Given the description of an element on the screen output the (x, y) to click on. 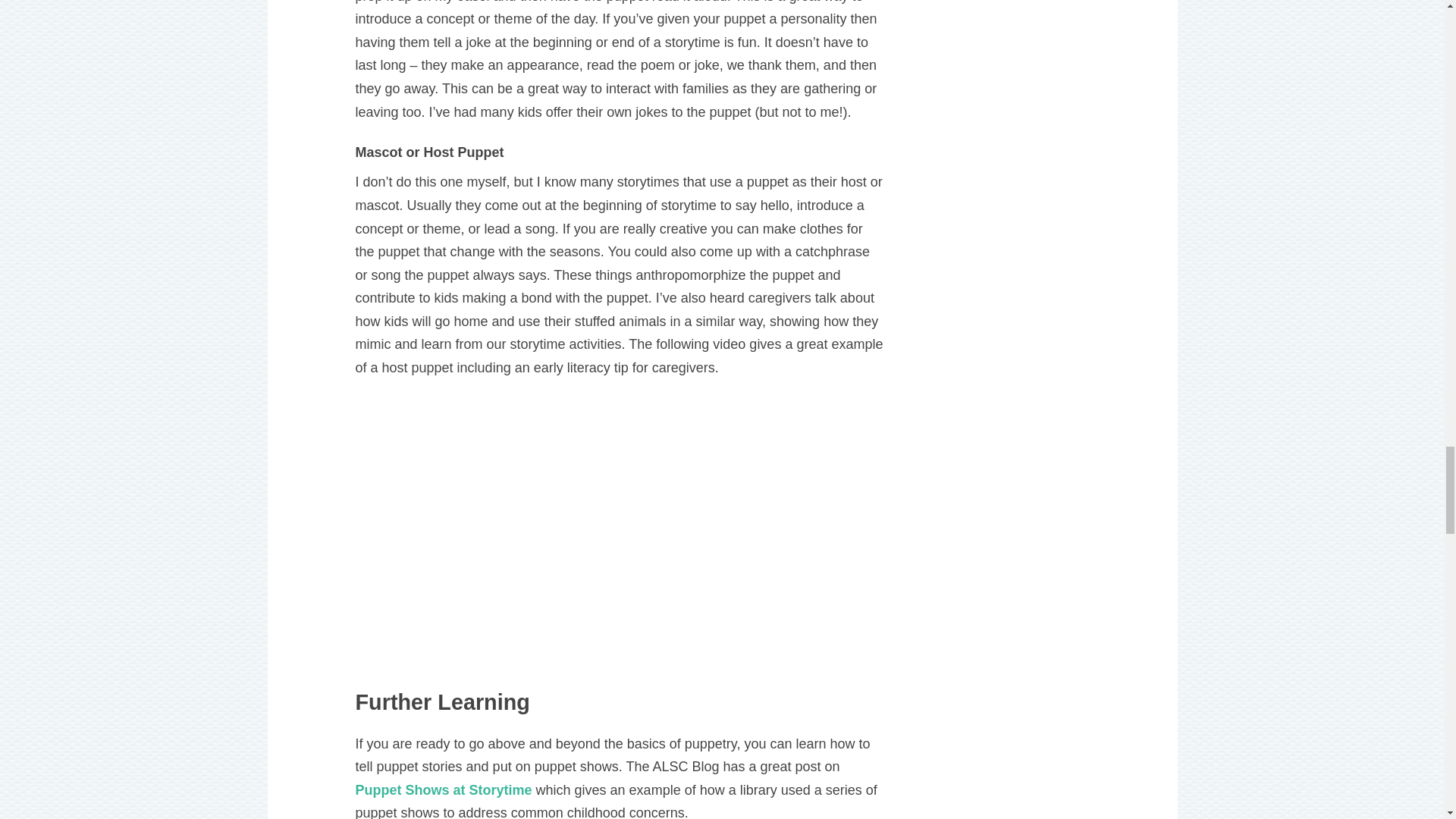
Puppet Shows at Storytime (443, 789)
